Given the description of an element on the screen output the (x, y) to click on. 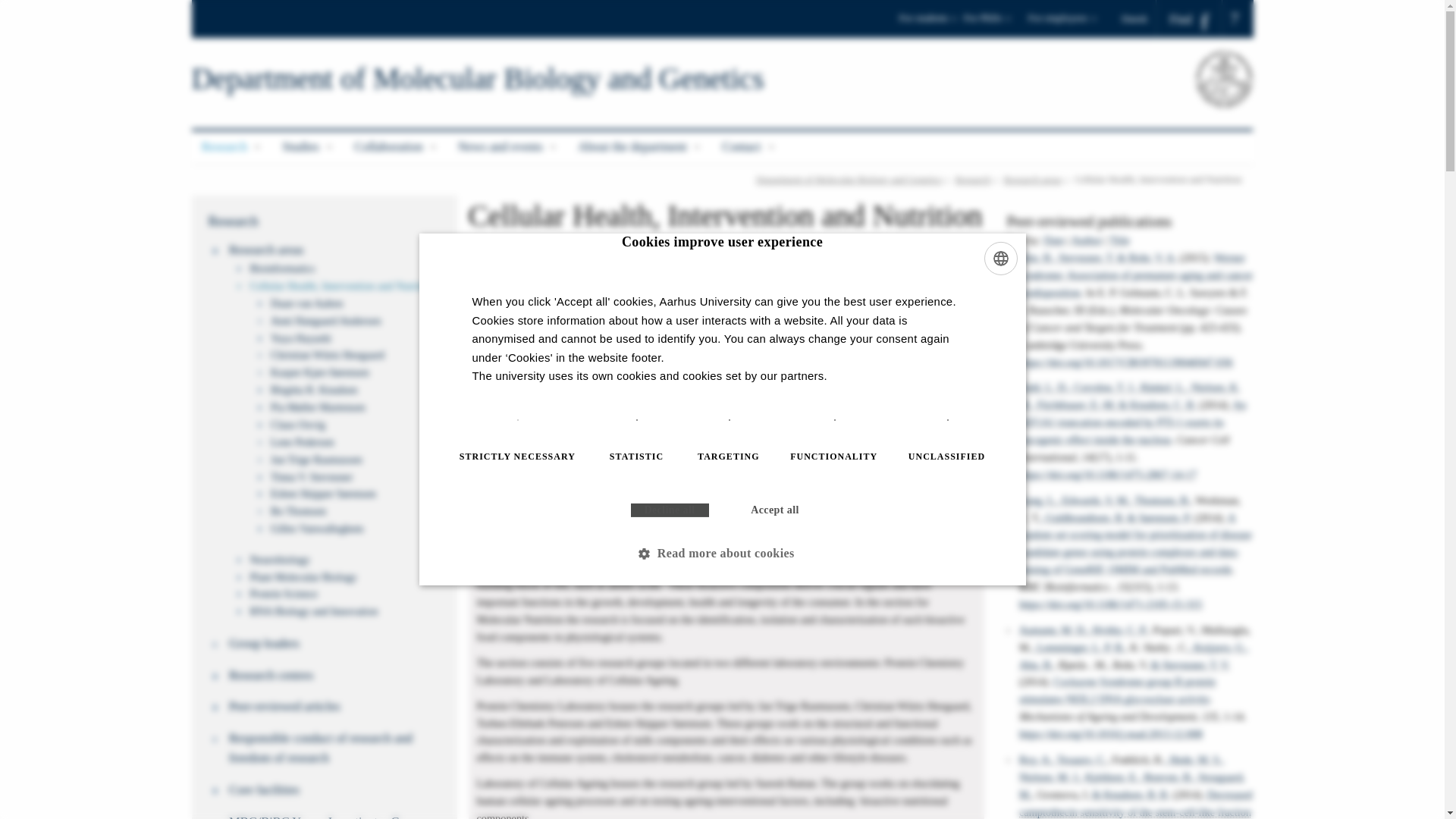
For employees (1061, 23)
Find (1189, 19)
Collaboration (395, 147)
Department of Molecular Biology and Genetics (476, 78)
For students (927, 22)
Dansk (1139, 18)
Dansk (1139, 18)
News and events (507, 147)
For PhDs (992, 22)
Search (17, 5)
Studies (307, 147)
Research (231, 147)
